Given the description of an element on the screen output the (x, y) to click on. 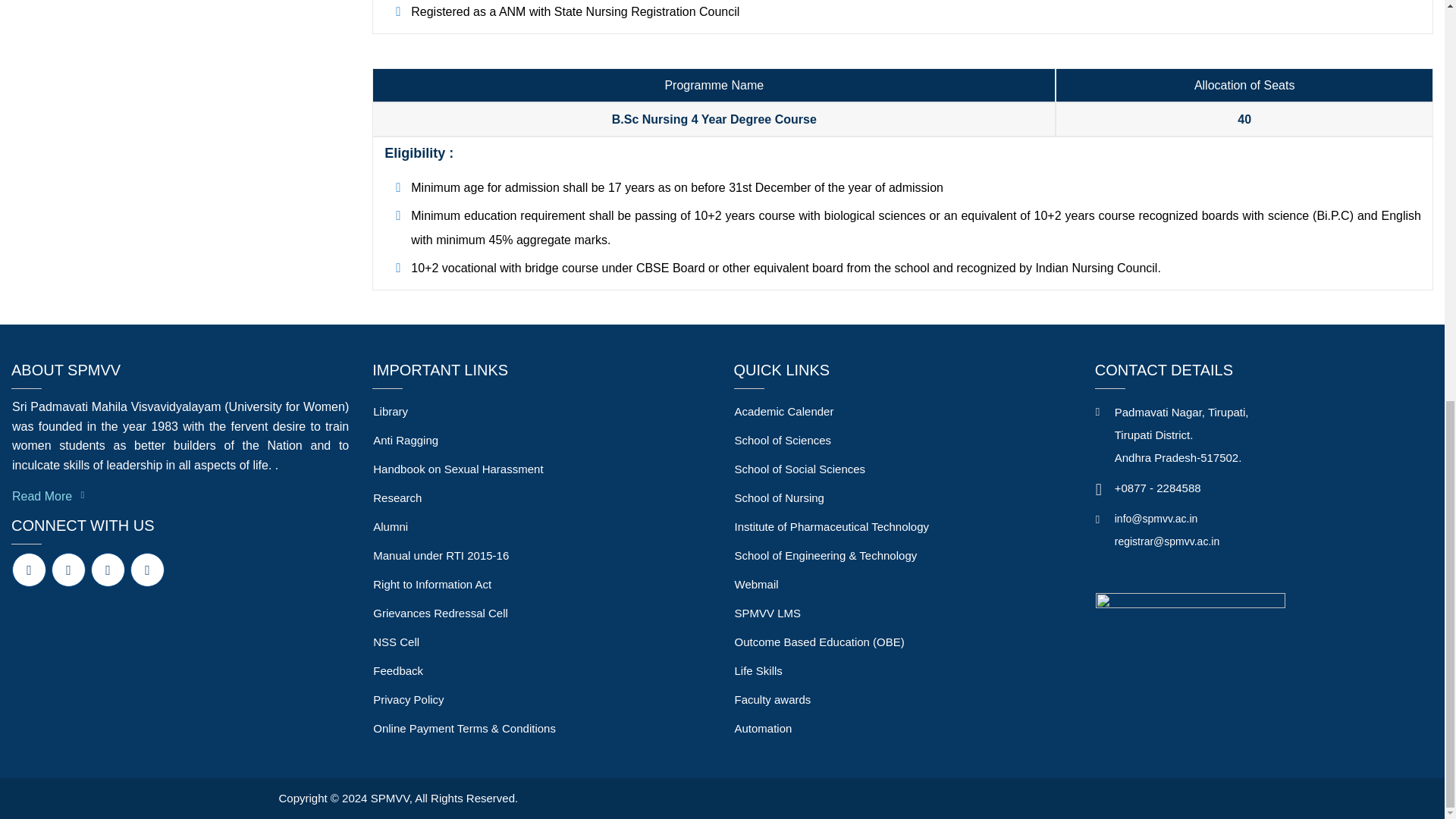
youtube (107, 569)
instragram (147, 569)
Facebook (28, 569)
Twitter (67, 569)
